Given the description of an element on the screen output the (x, y) to click on. 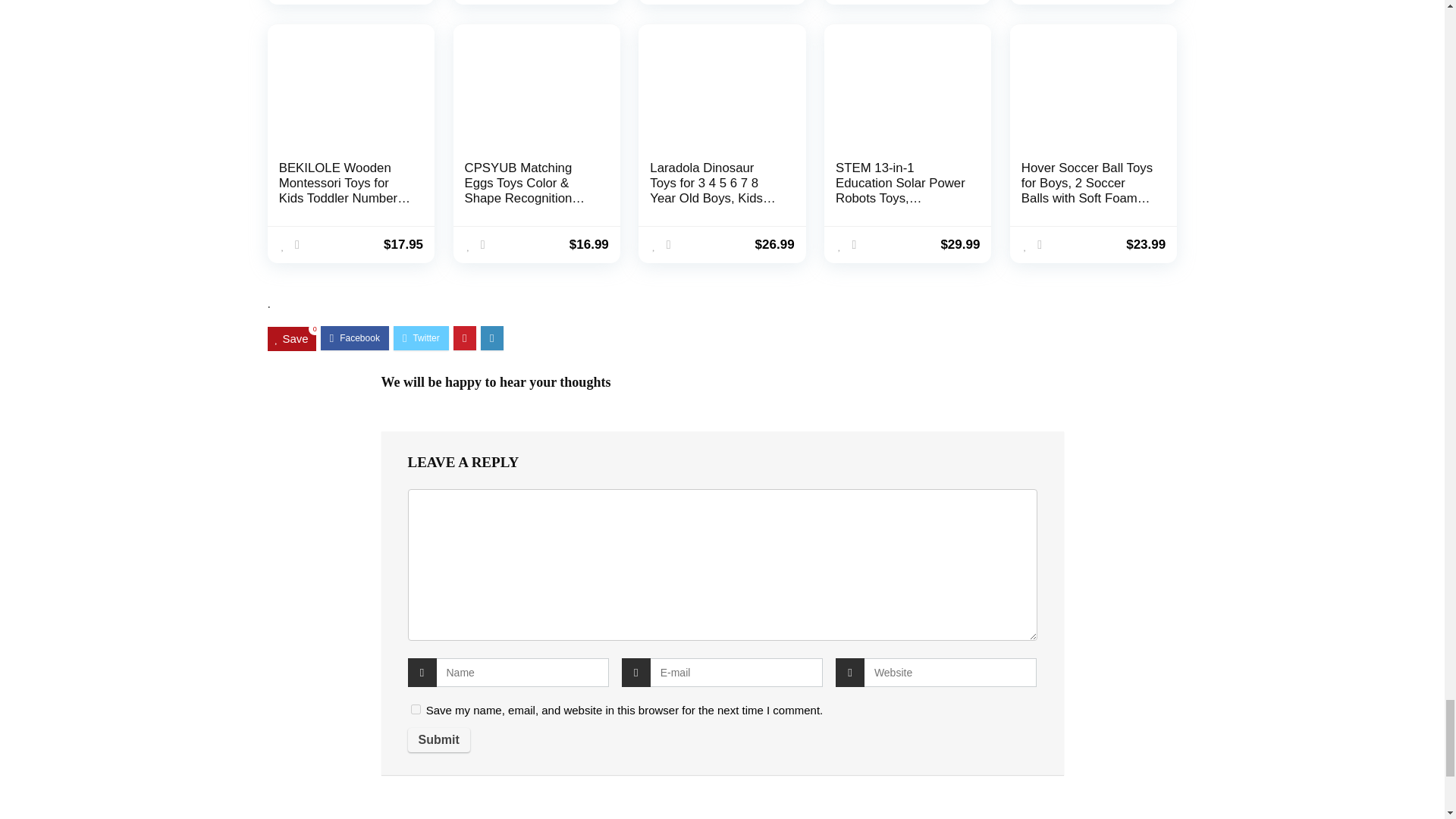
Submit (438, 740)
yes (415, 709)
